Given the description of an element on the screen output the (x, y) to click on. 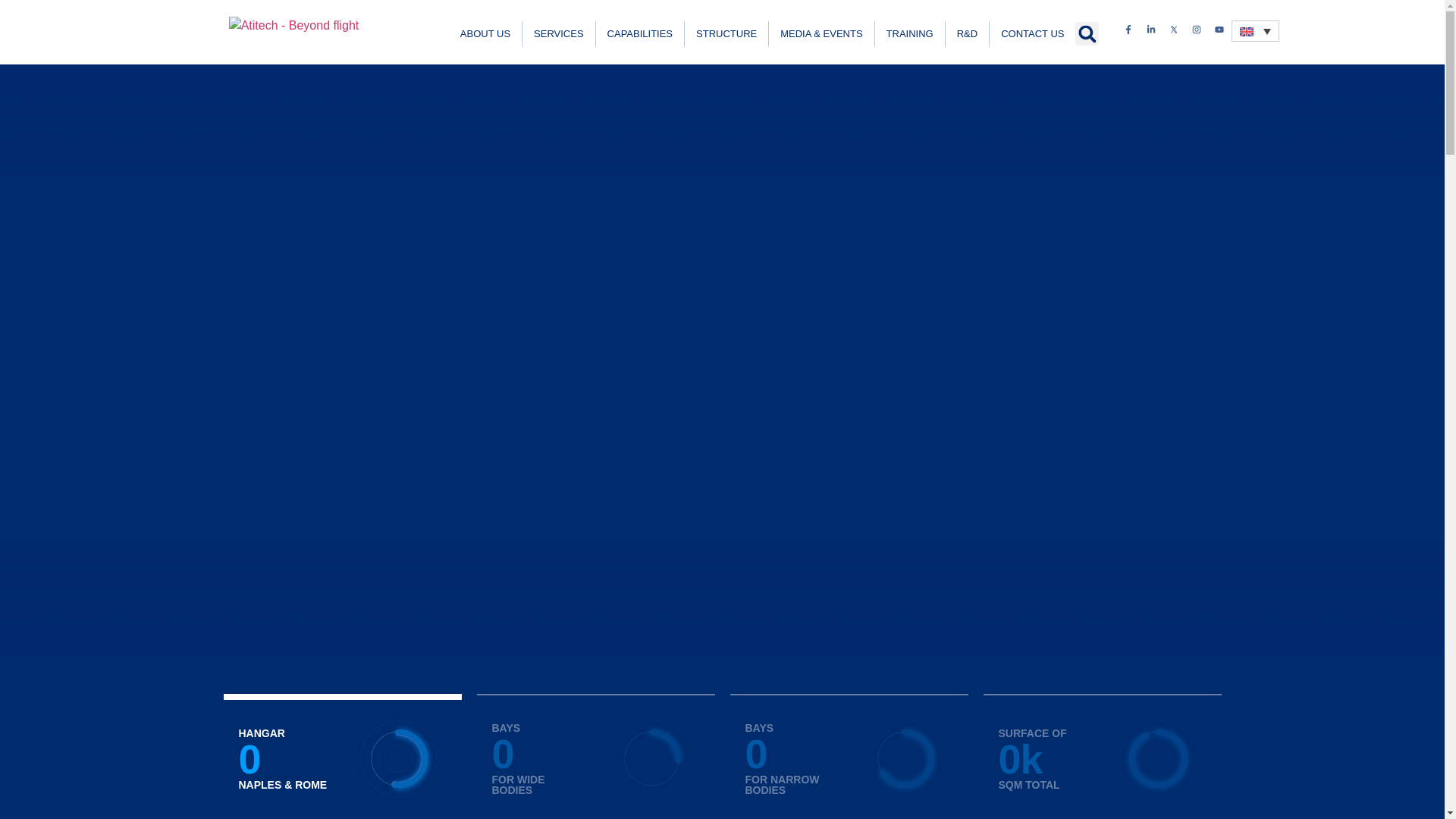
ABOUT US (484, 33)
